Given the description of an element on the screen output the (x, y) to click on. 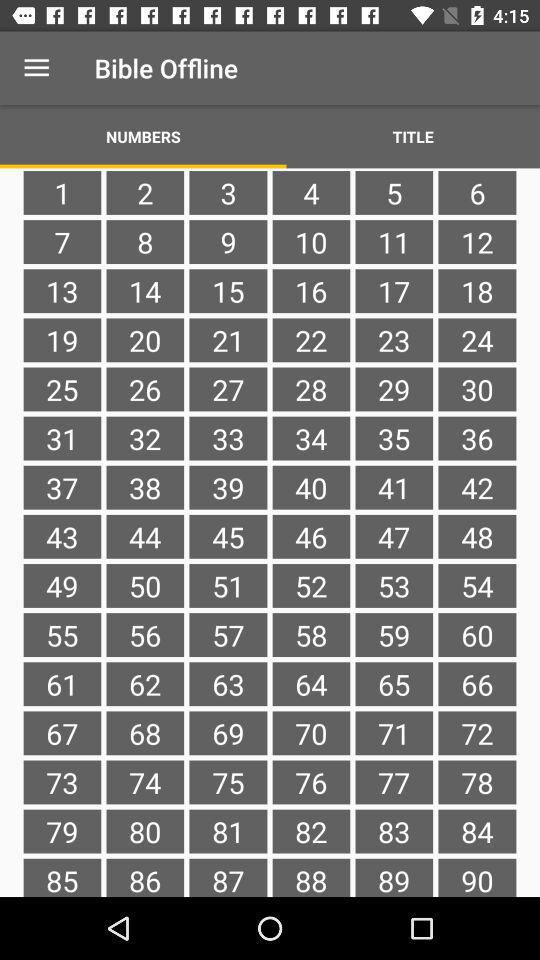
turn on the item below the 74 icon (228, 831)
